Given the description of an element on the screen output the (x, y) to click on. 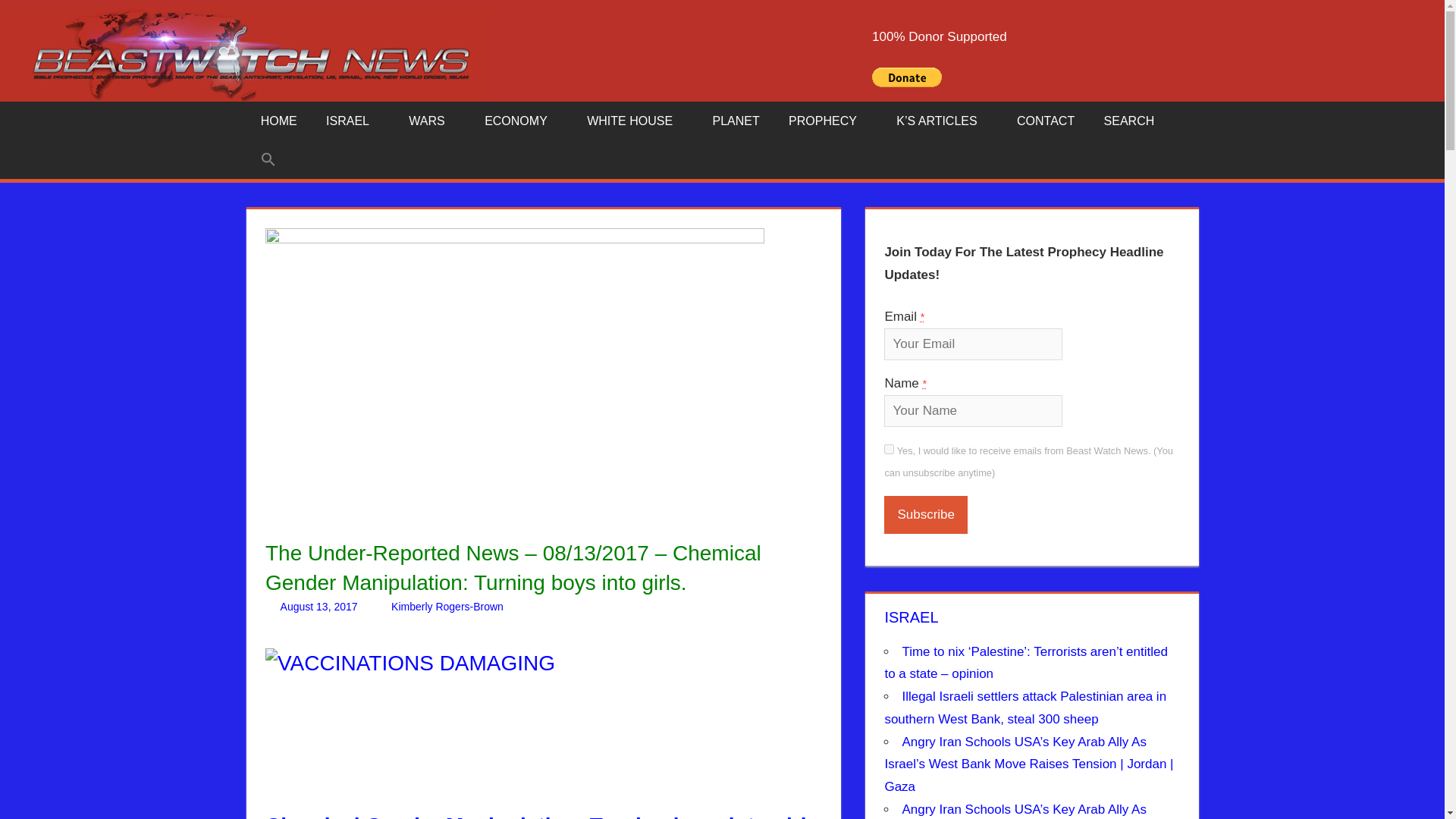
ISRAEL (352, 121)
Subscribe (925, 514)
WHITE HOUSE (634, 121)
View all posts by Kimberly Rogers-Brown (447, 606)
5:28 pm (319, 606)
PROPHECY (828, 121)
Beast Watch News Home Page (278, 121)
1 (888, 449)
WARS (432, 121)
PLANET (735, 121)
